Given the description of an element on the screen output the (x, y) to click on. 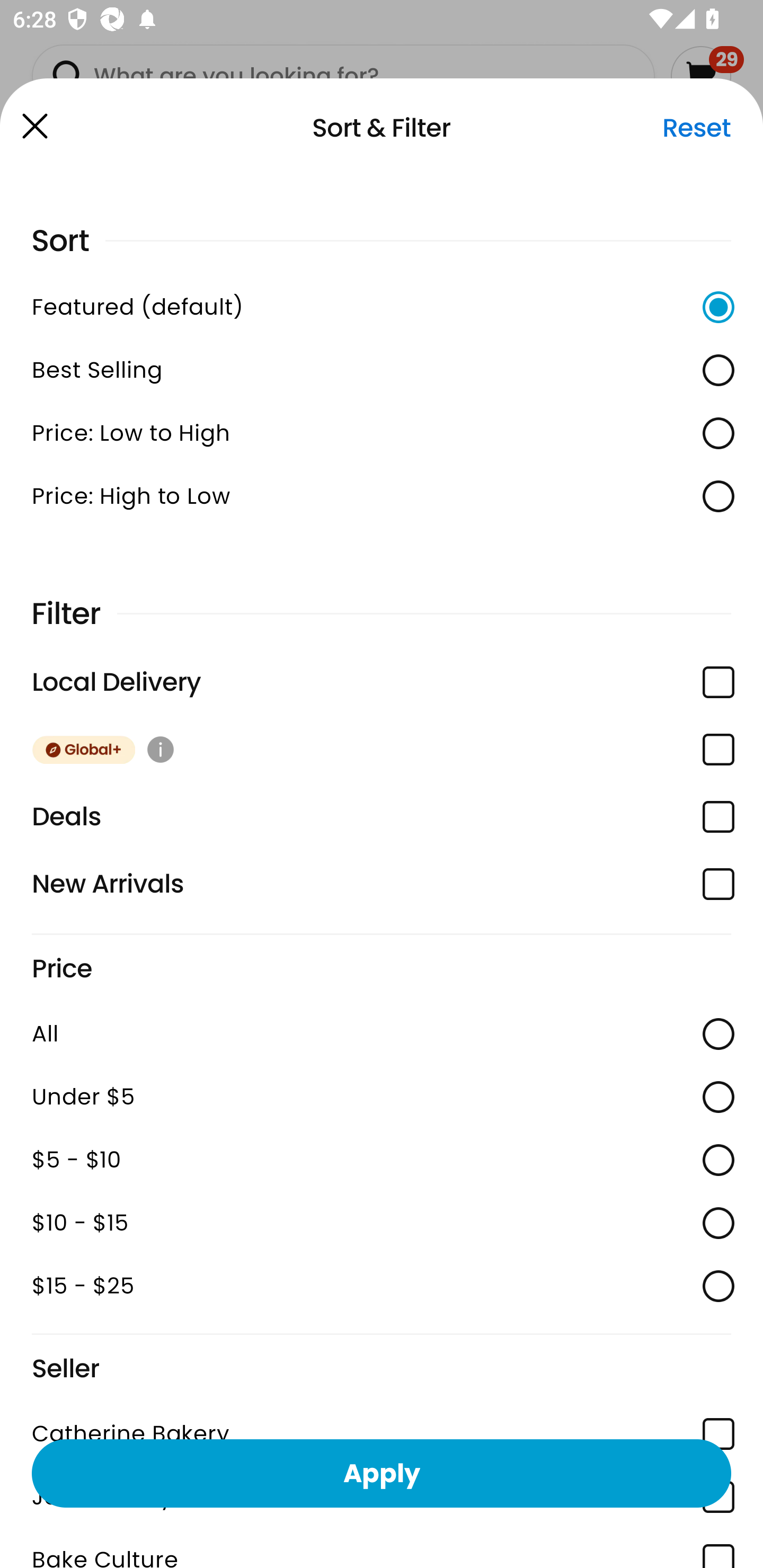
Reset (696, 127)
Apply (381, 1472)
